Given the description of an element on the screen output the (x, y) to click on. 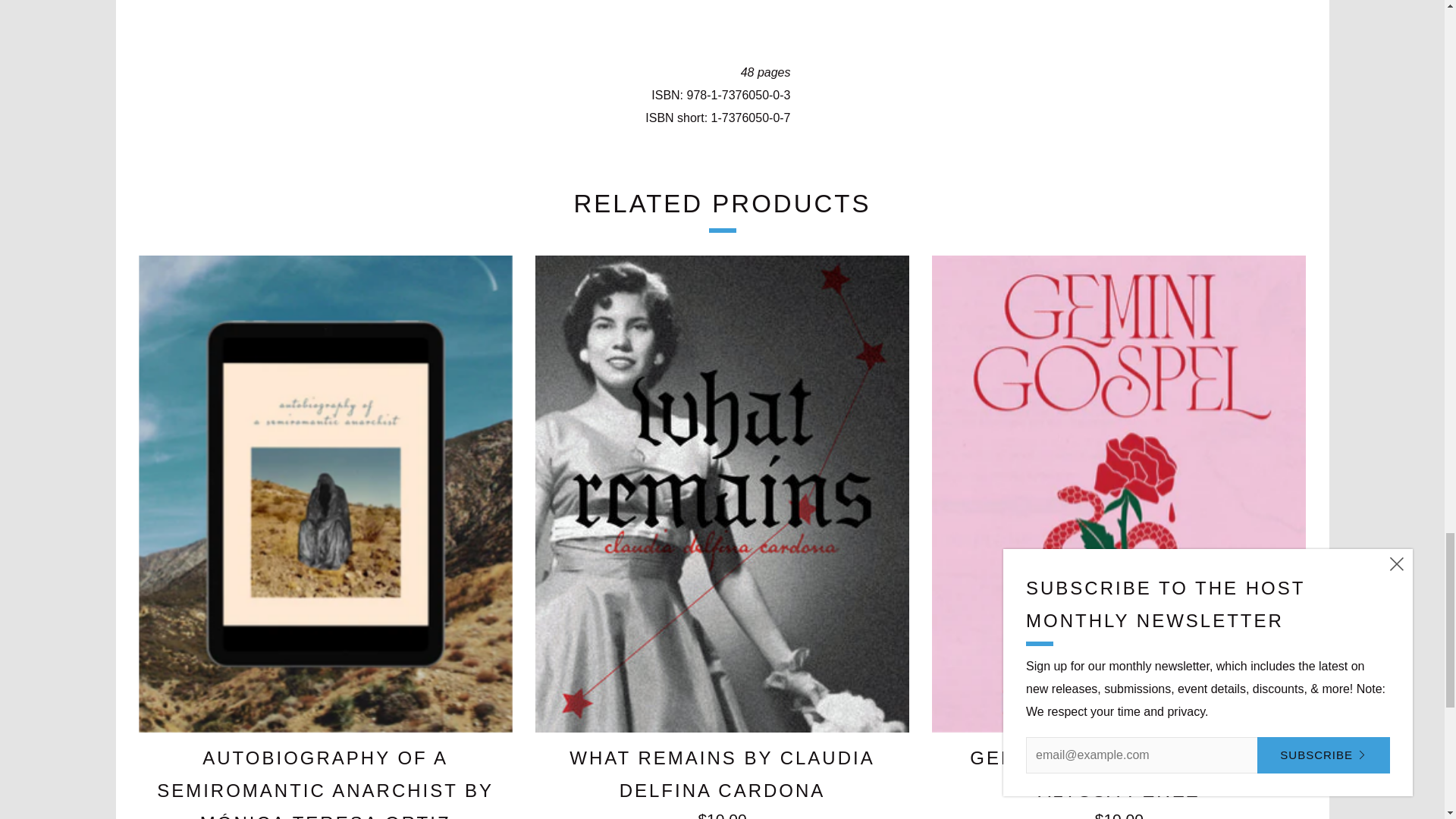
What Remains by Claudia Delfina Cardona (721, 780)
